Given the description of an element on the screen output the (x, y) to click on. 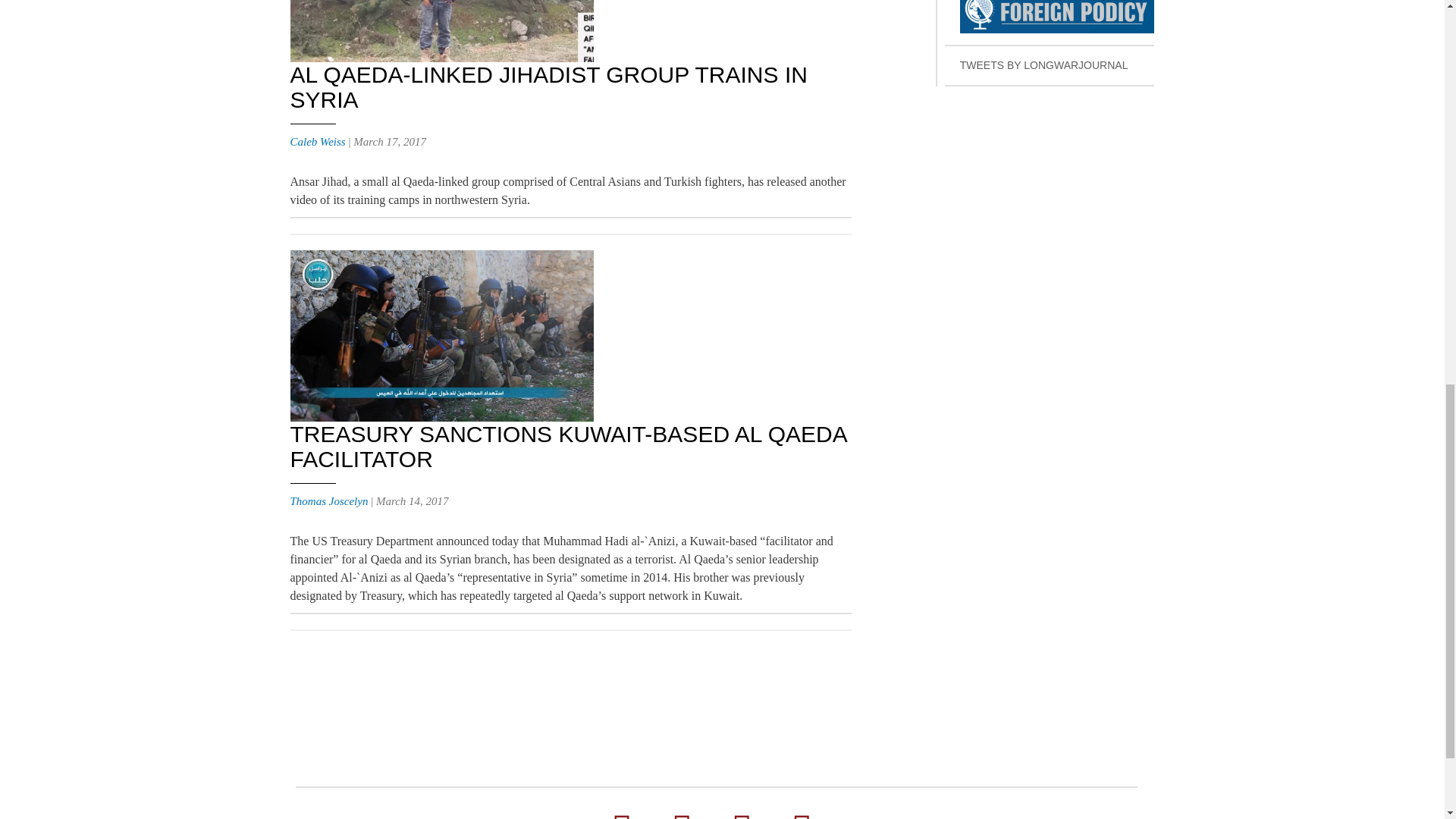
Caleb Weiss (317, 141)
Treasury sanctions Kuwait-based al Qaeda facilitator (567, 446)
AL QAEDA-LINKED JIHADIST GROUP TRAINS IN SYRIA (547, 87)
Posts by Caleb Weiss (317, 141)
Al Qaeda-linked jihadist group trains in Syria (547, 87)
TWEETS BY LONGWARJOURNAL (1049, 65)
Posts by Thomas Joscelyn (328, 500)
Thomas Joscelyn (328, 500)
TREASURY SANCTIONS KUWAIT-BASED AL QAEDA FACILITATOR (567, 446)
